Given the description of an element on the screen output the (x, y) to click on. 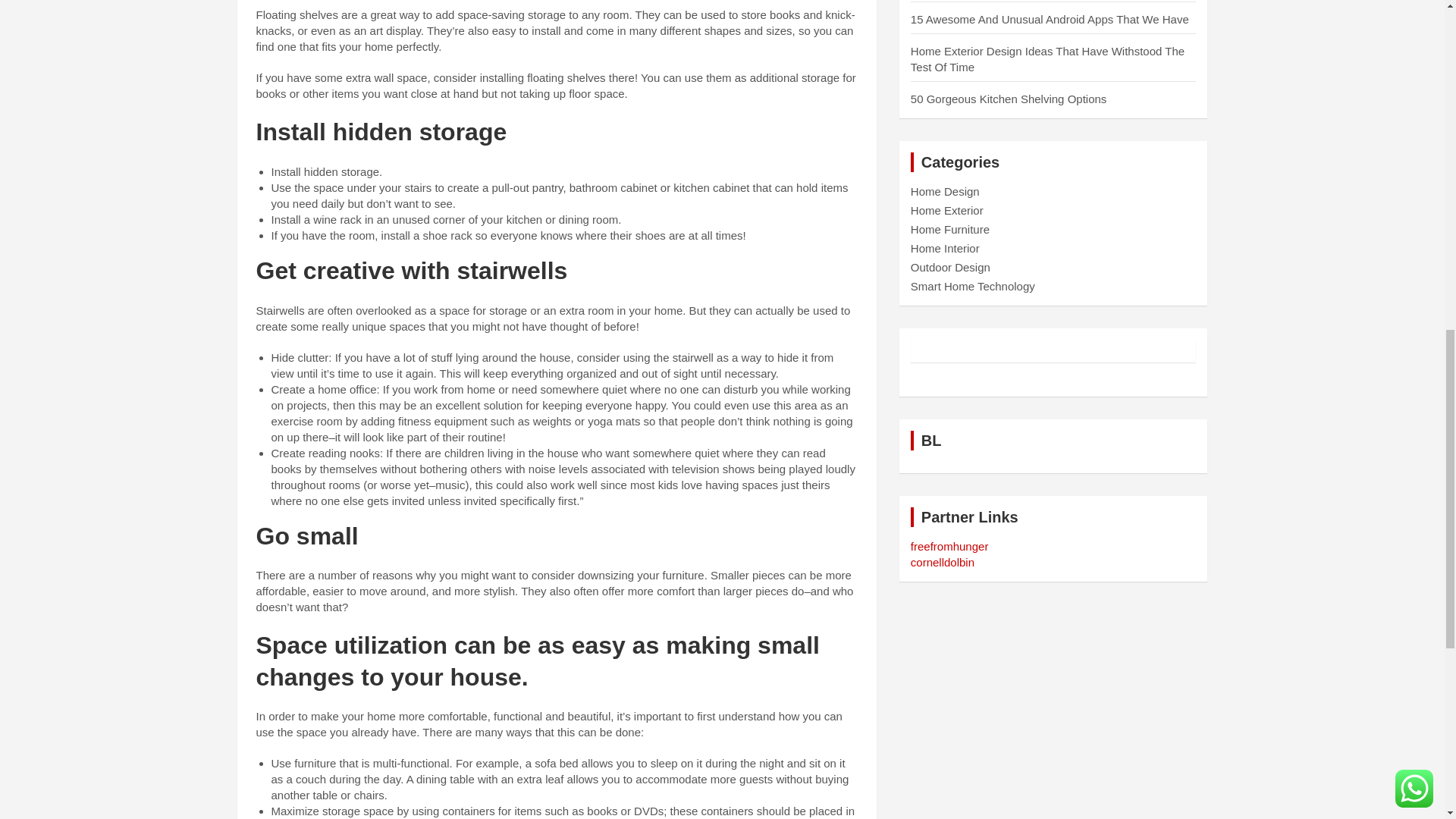
Home Design (945, 191)
Home Exterior (947, 210)
50 Gorgeous Kitchen Shelving Options (1008, 98)
15 Awesome And Unusual Android Apps That We Have (1050, 19)
